Given the description of an element on the screen output the (x, y) to click on. 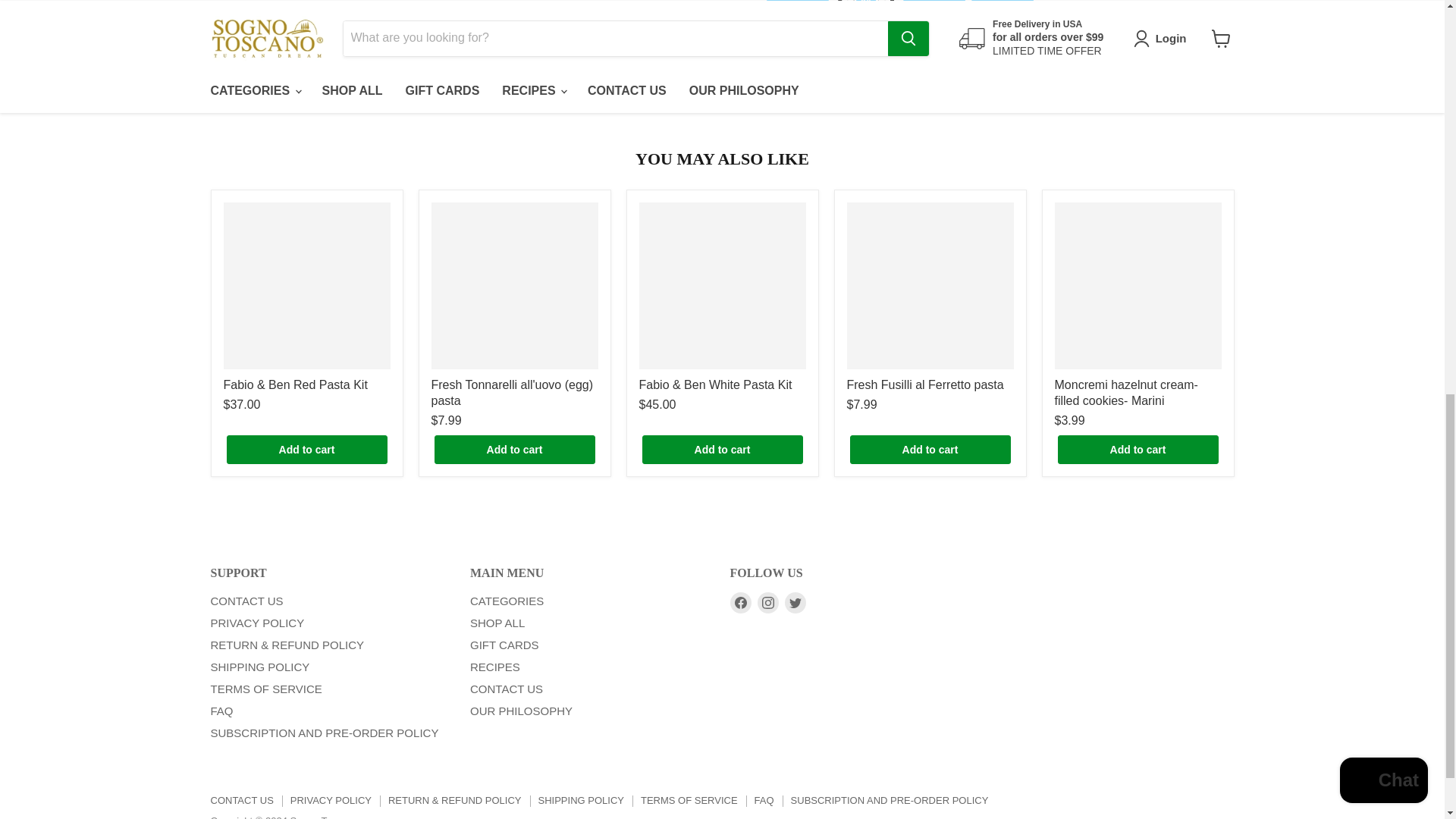
Twitter (794, 602)
Facebook (740, 602)
Instagram (767, 602)
